Given the description of an element on the screen output the (x, y) to click on. 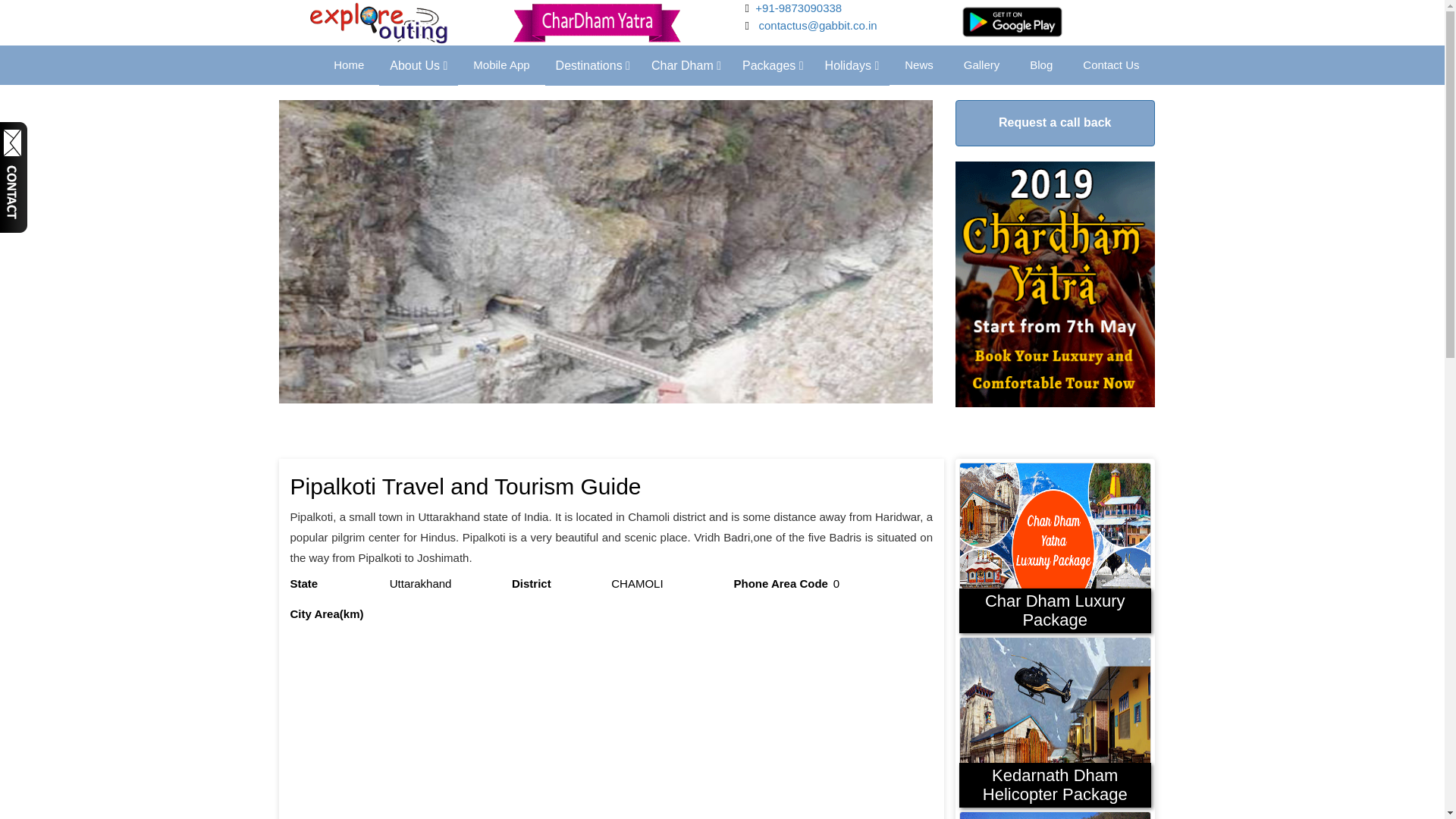
Holidays (851, 65)
Packages (772, 65)
Char Dham (686, 65)
About Us (418, 65)
Holidays (850, 65)
Mobile App (501, 64)
Destinations (592, 65)
News (919, 64)
Packages (770, 65)
Home (348, 64)
